Given the description of an element on the screen output the (x, y) to click on. 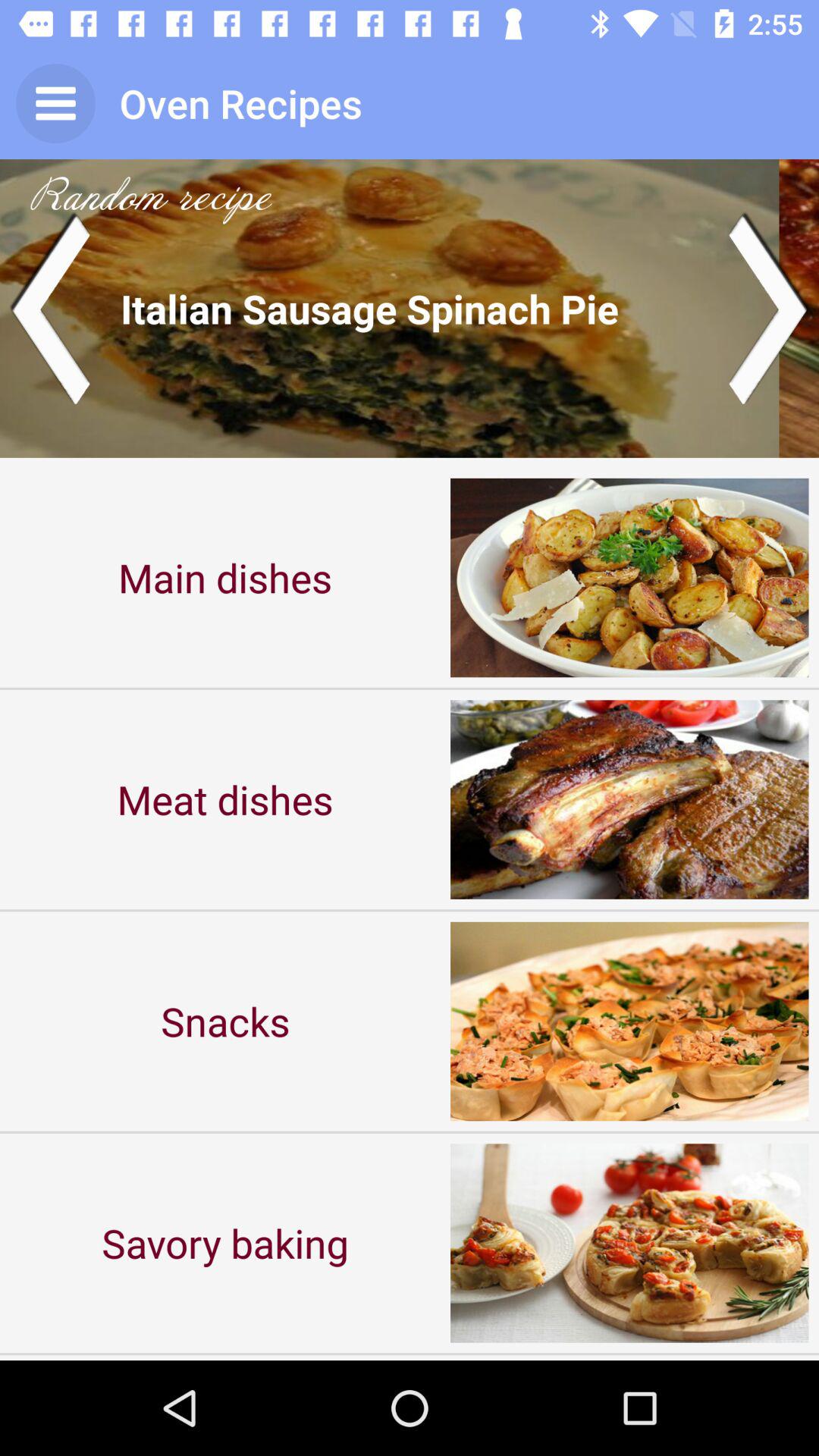
choose the main dishes icon (225, 577)
